Given the description of an element on the screen output the (x, y) to click on. 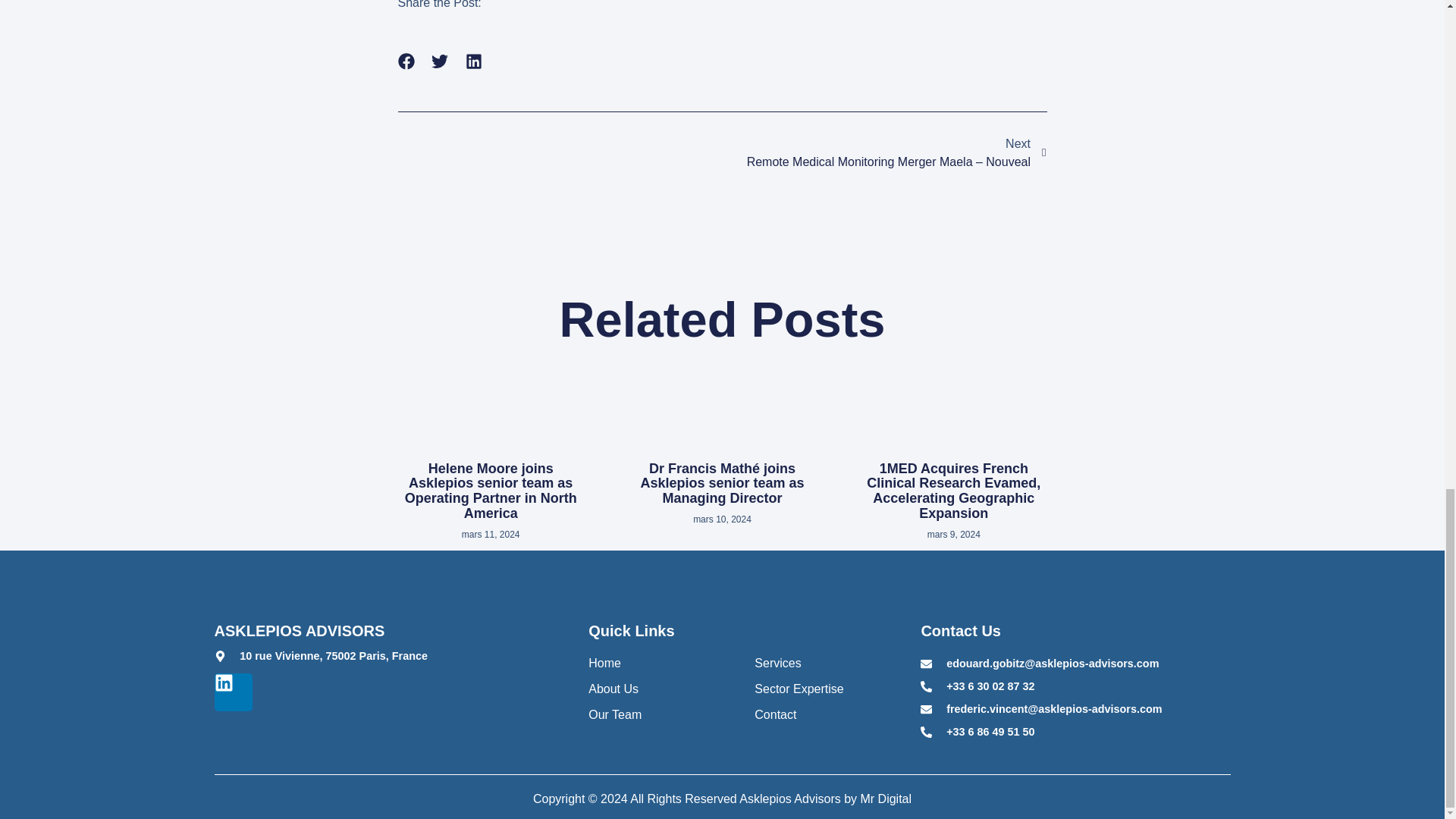
Home (660, 663)
Contact (826, 714)
Services (826, 663)
Sector Expertise (826, 689)
Our Team (660, 714)
Mr Digital (885, 798)
About Us (660, 689)
